Given the description of an element on the screen output the (x, y) to click on. 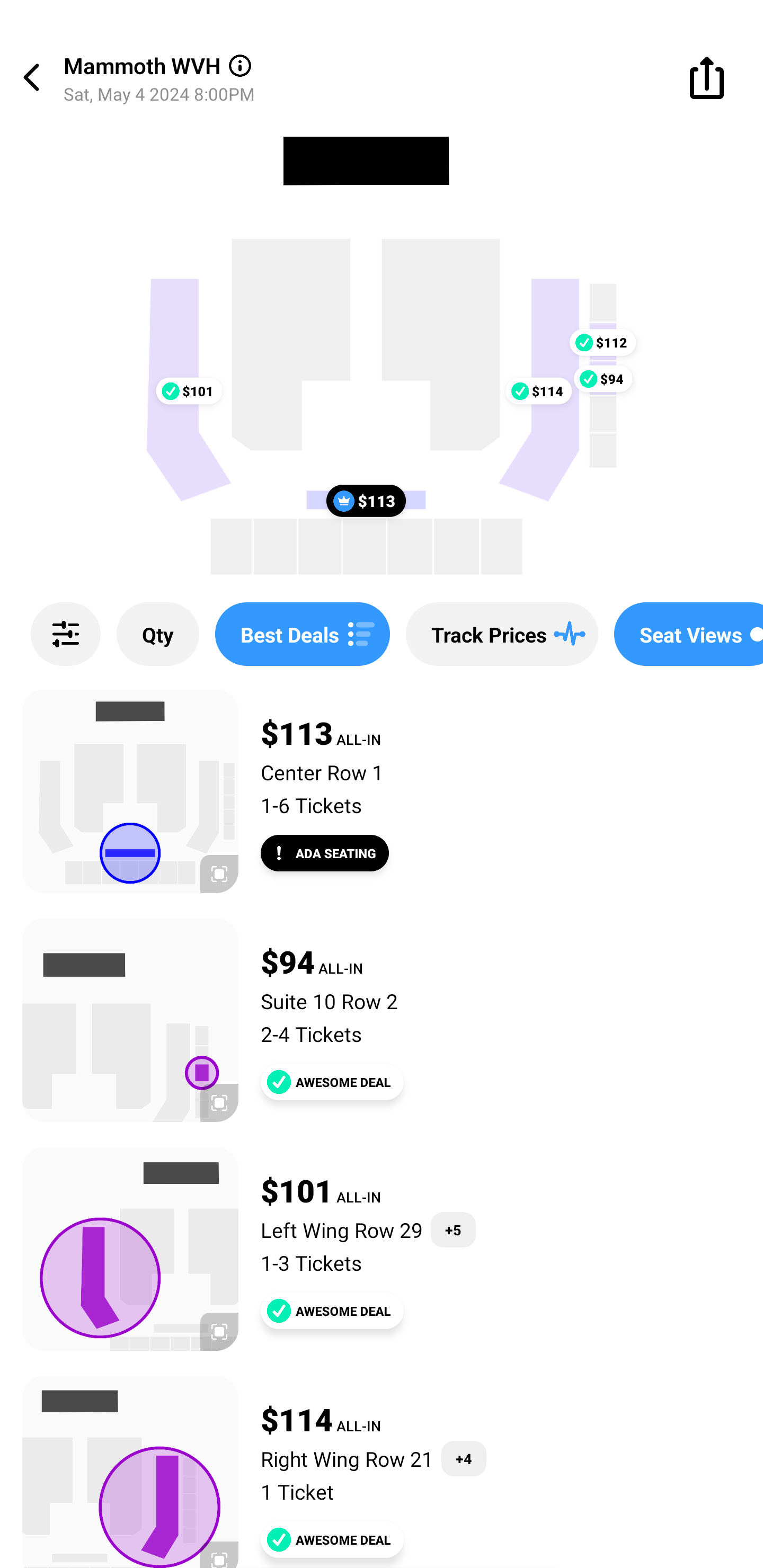
Qty (157, 634)
Best Deals (302, 634)
Track Prices (501, 634)
Seat Views (688, 634)
ADA SEATING (324, 852)
AWESOME DEAL (331, 1081)
+5 (453, 1230)
AWESOME DEAL (331, 1310)
+4 (463, 1458)
AWESOME DEAL (331, 1539)
